Given the description of an element on the screen output the (x, y) to click on. 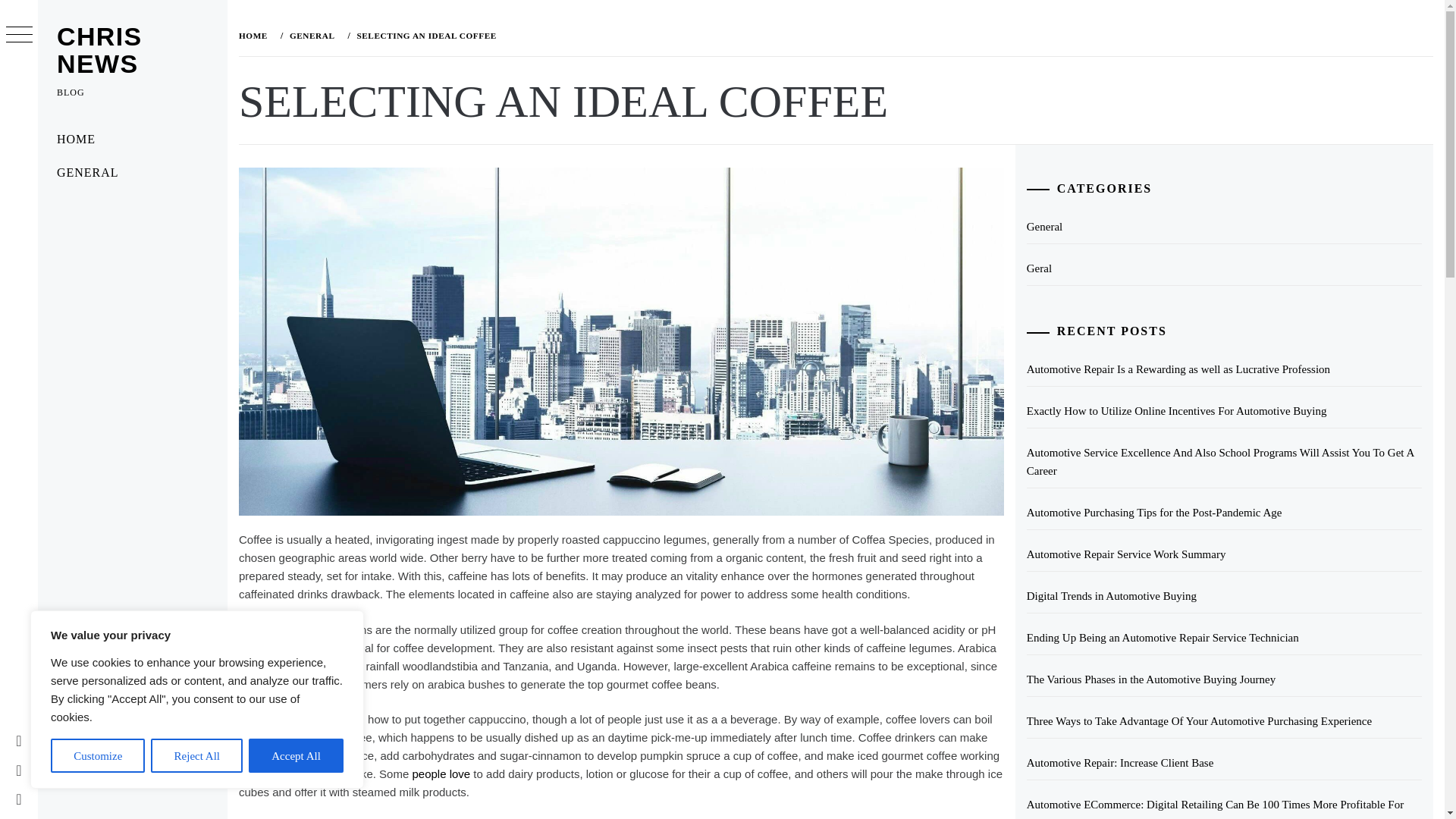
SELECTING AN IDEAL COFFEE (423, 35)
people love (441, 773)
Accept All (295, 755)
GENERAL (310, 35)
Customize (97, 755)
HOME (132, 139)
GENERAL (132, 172)
Reject All (197, 755)
CHRIS NEWS (99, 49)
HOME (255, 35)
